Given the description of an element on the screen output the (x, y) to click on. 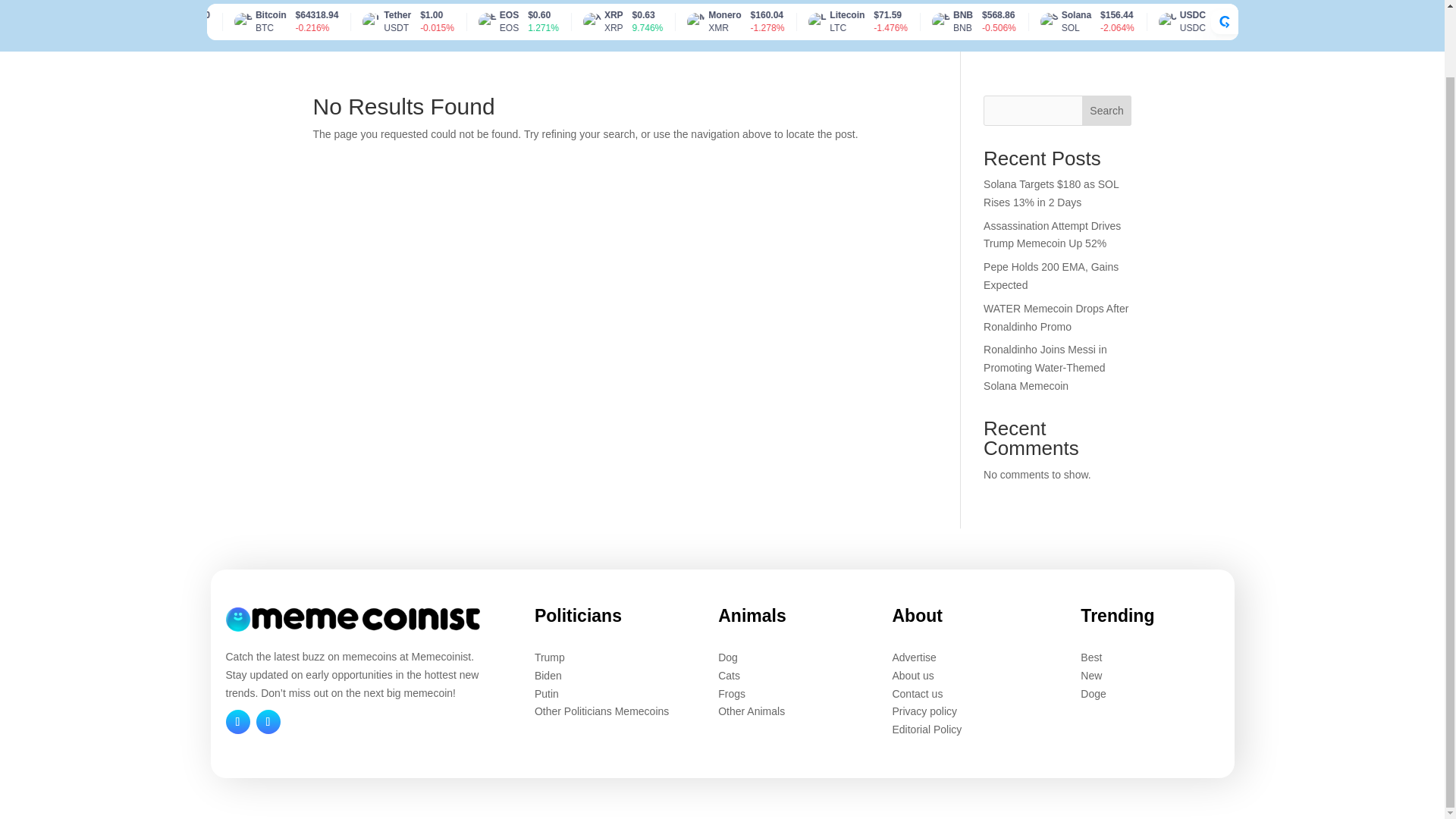
Follow on Telegram (268, 721)
Follow on X (237, 721)
ft-lg (352, 619)
